Given the description of an element on the screen output the (x, y) to click on. 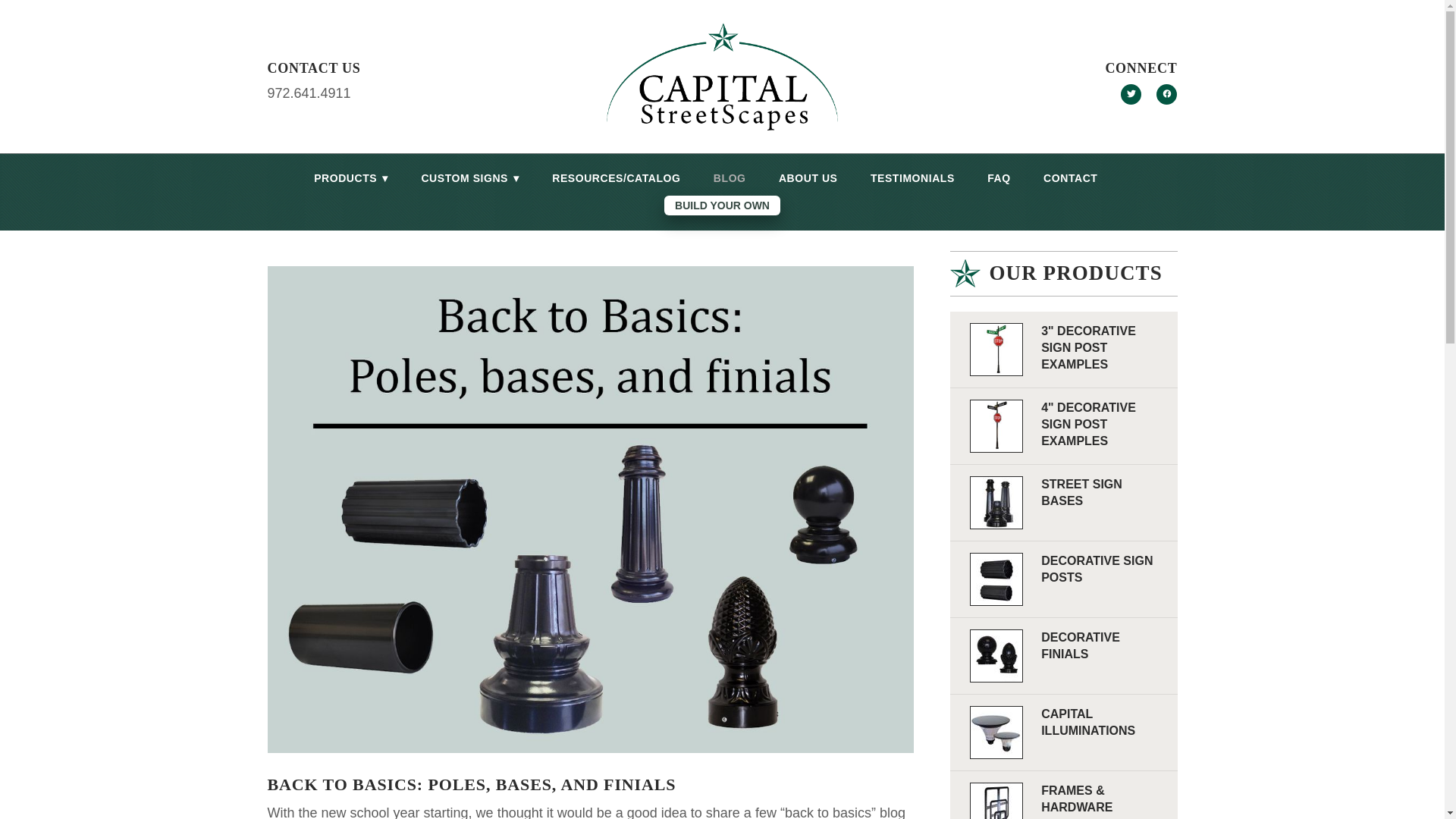
4" DECORATIVE SIGN POST EXAMPLES (1088, 423)
FAQ (998, 178)
TESTIMONIALS (912, 178)
BLOG (729, 178)
DECORATIVE SIGN POSTS (1097, 568)
CONTACT (1070, 178)
Capital StreetScapes (722, 76)
3" DECORATIVE SIGN POST EXAMPLES (1088, 347)
CAPITAL ILLUMINATIONS (1088, 722)
BUILD YOUR OWN (721, 205)
ABOUT US (808, 178)
DECORATIVE FINIALS (1080, 645)
STREET SIGN BASES (1081, 491)
